Given the description of an element on the screen output the (x, y) to click on. 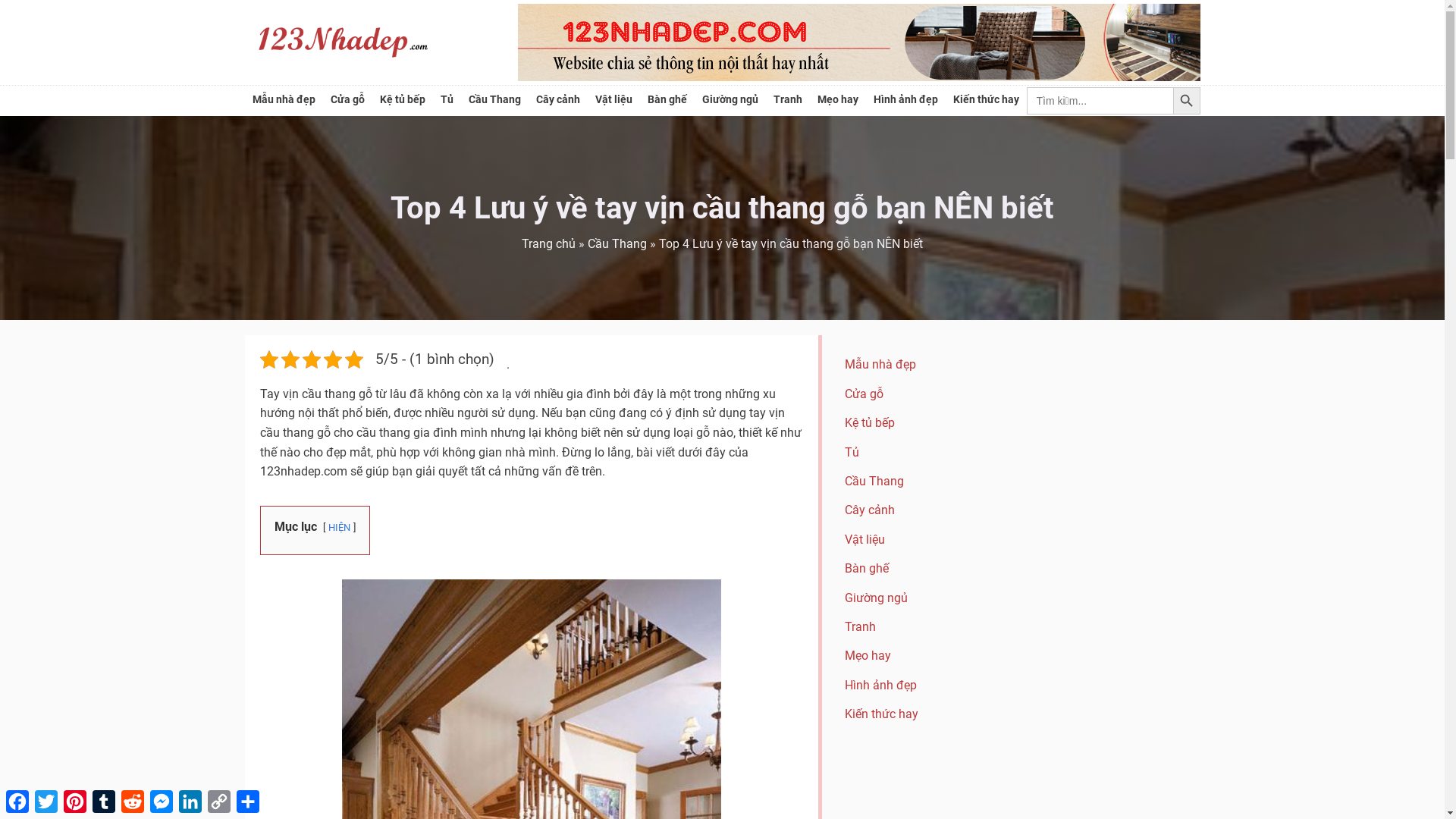
Copy Link Element type: text (218, 801)
Tranh Element type: text (881, 626)
LinkedIn Element type: text (189, 801)
Tumblr Element type: text (103, 801)
Messenger Element type: text (161, 801)
Share Element type: text (247, 801)
Pinterest Element type: text (74, 801)
Twitter Element type: text (45, 801)
Reddit Element type: text (132, 801)
Search Button Element type: text (1185, 100)
Tranh Element type: text (787, 100)
Facebook Element type: text (17, 801)
